Given the description of an element on the screen output the (x, y) to click on. 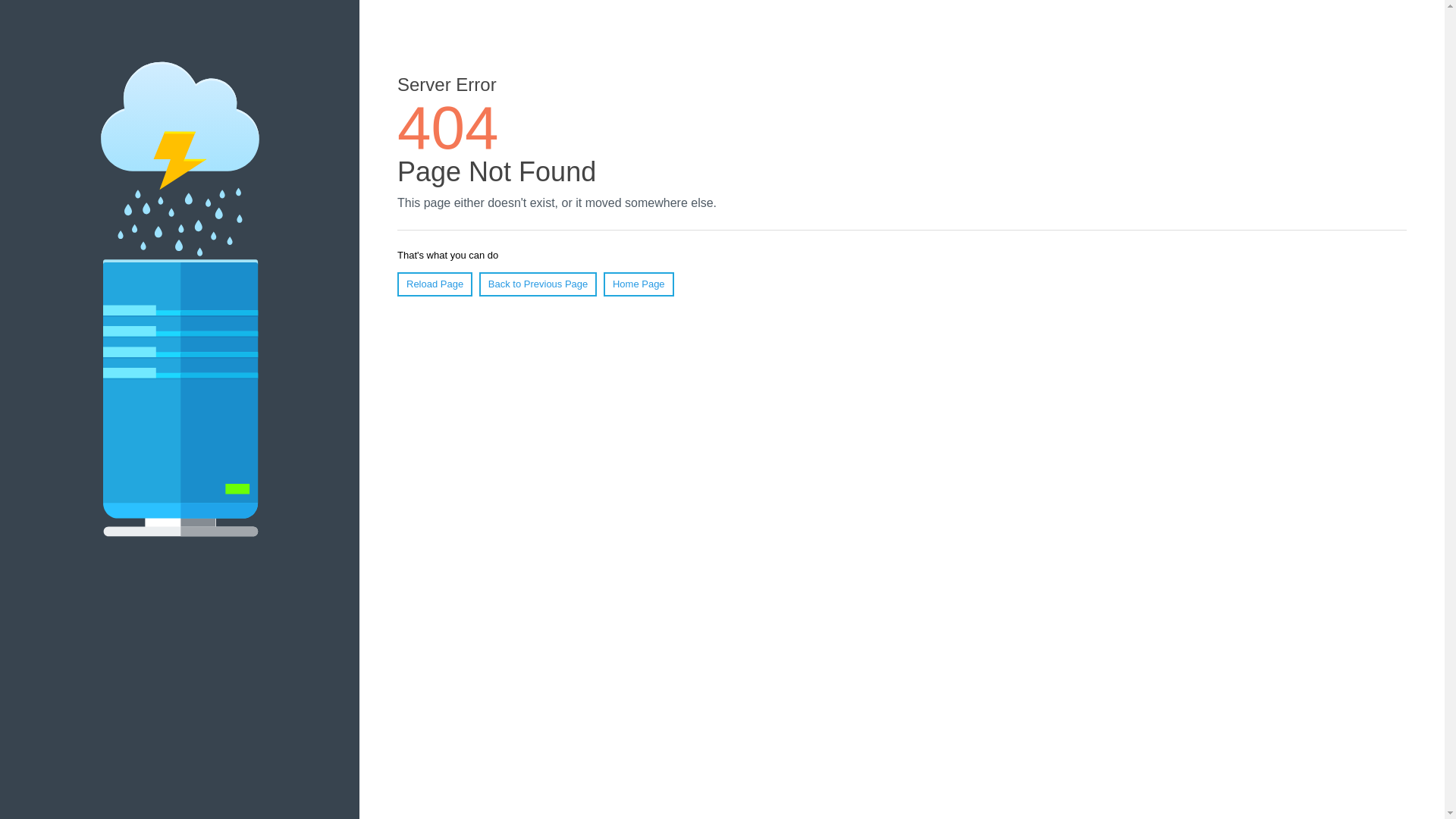
Home Page Element type: text (638, 284)
Reload Page Element type: text (434, 284)
Back to Previous Page Element type: text (538, 284)
